Given the description of an element on the screen output the (x, y) to click on. 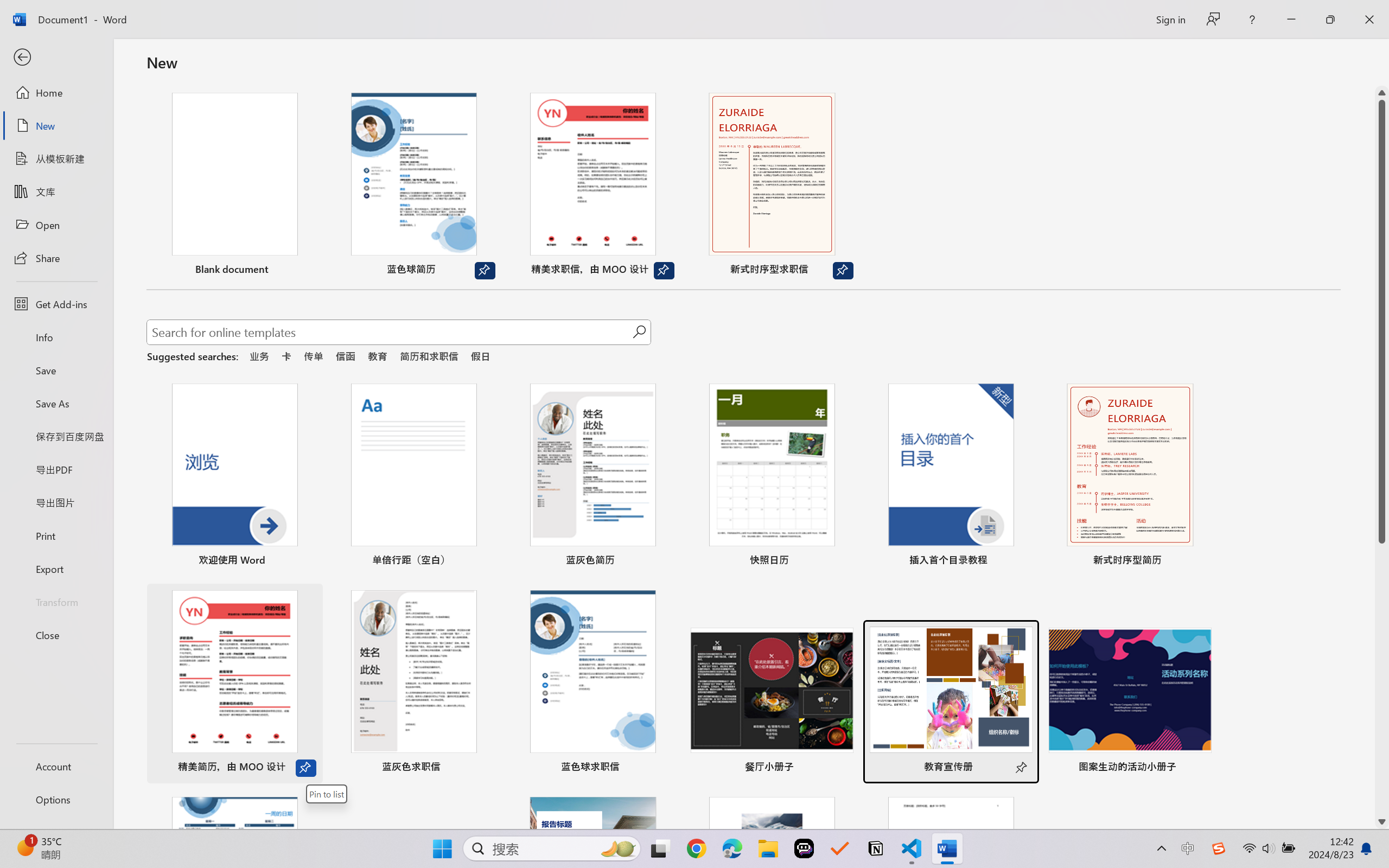
Blank document (234, 185)
Pin to list (326, 793)
Line up (1382, 92)
Export (56, 568)
